Given the description of an element on the screen output the (x, y) to click on. 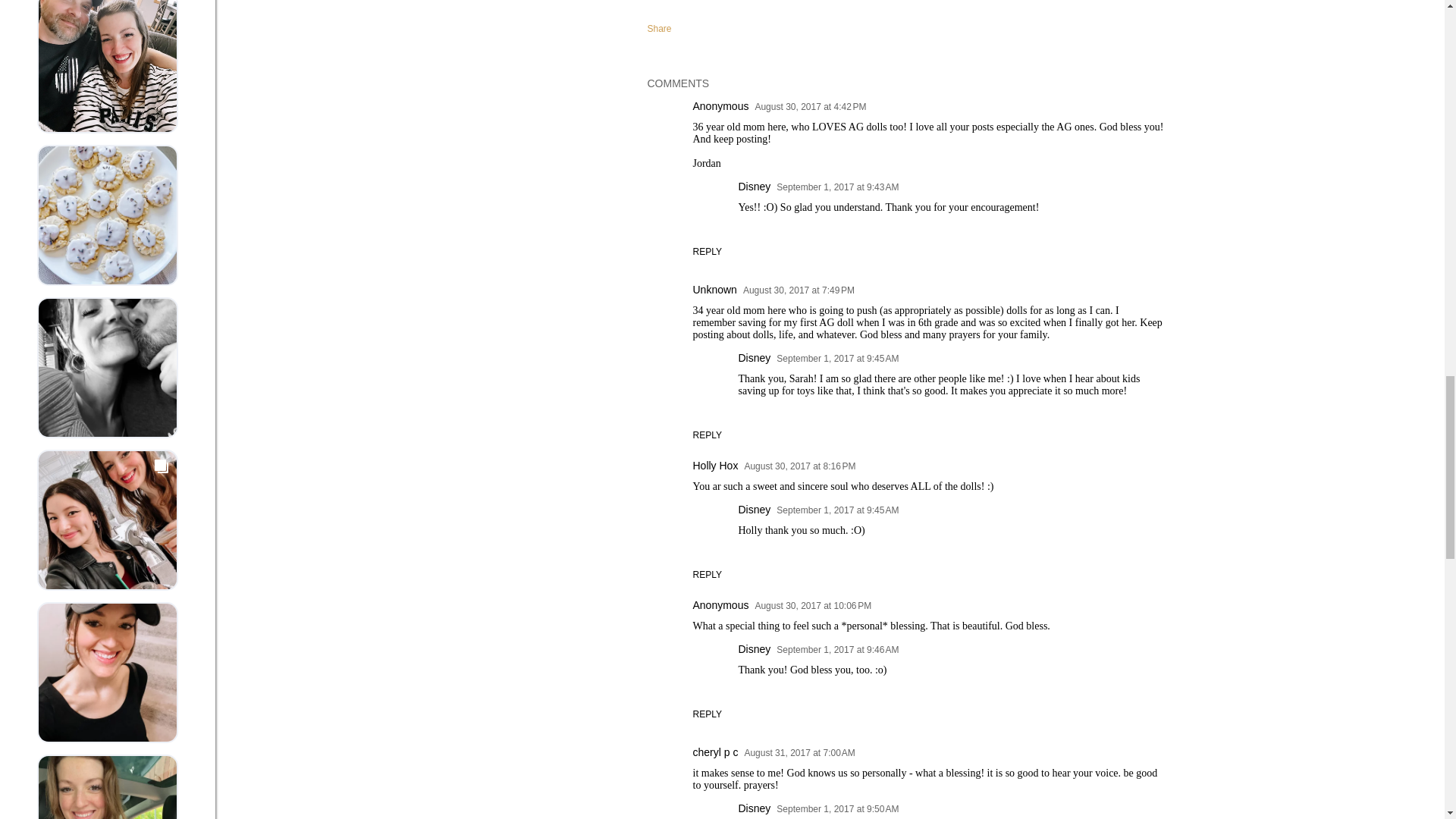
Disney (754, 186)
Disney (754, 509)
REPLY (707, 574)
REPLY (707, 434)
Unknown (714, 289)
Holly Hox (715, 465)
Disney (754, 357)
REPLY (707, 251)
Share (659, 28)
